Given the description of an element on the screen output the (x, y) to click on. 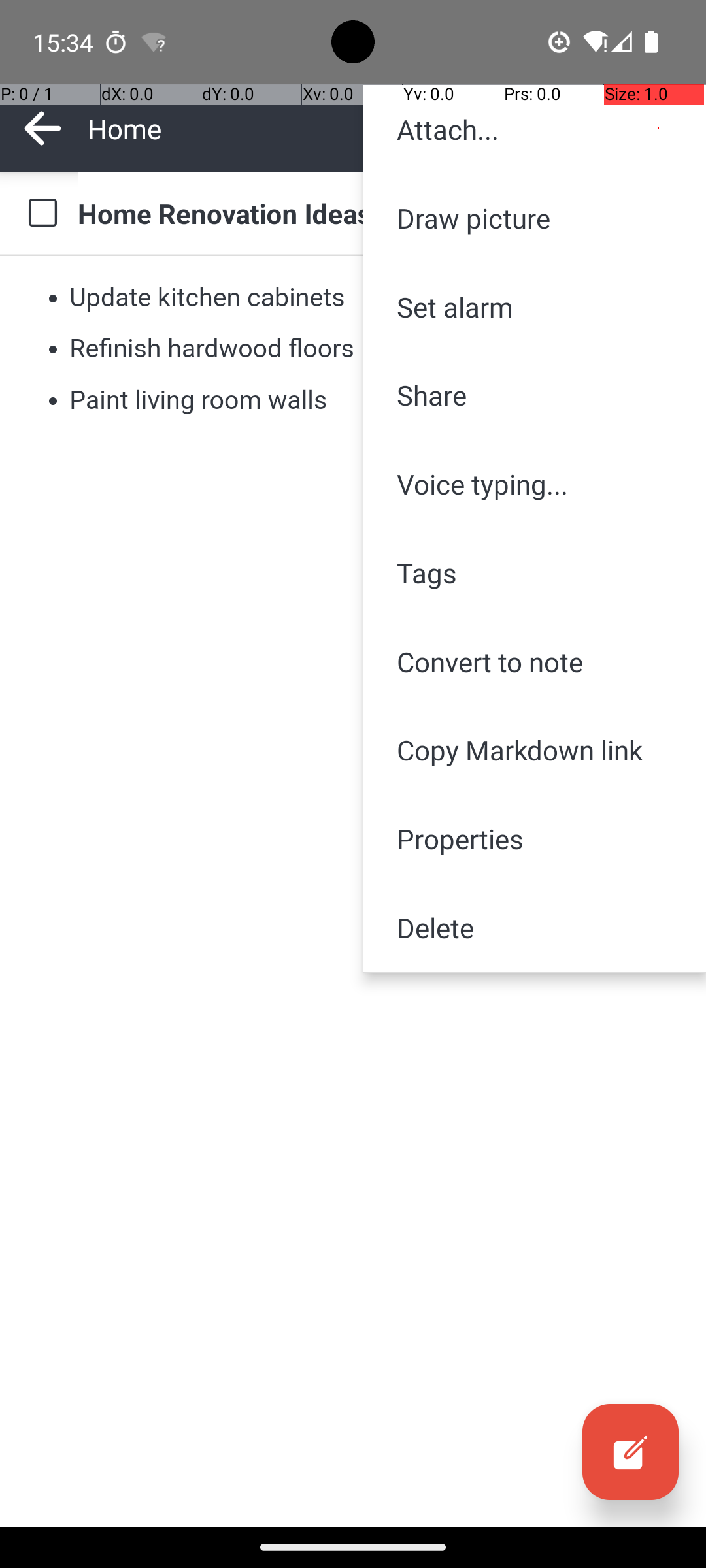
Home Renovation Ideas Element type: android.widget.EditText (378, 213)
Convert to note Element type: android.widget.TextView (534, 661)
•  Element type: android.view.View (52, 296)
Update kitchen cabinets Element type: android.widget.TextView (207, 296)
Refinish hardwood floors Element type: android.widget.TextView (211, 348)
Paint living room walls Element type: android.widget.TextView (197, 399)
